Given the description of an element on the screen output the (x, y) to click on. 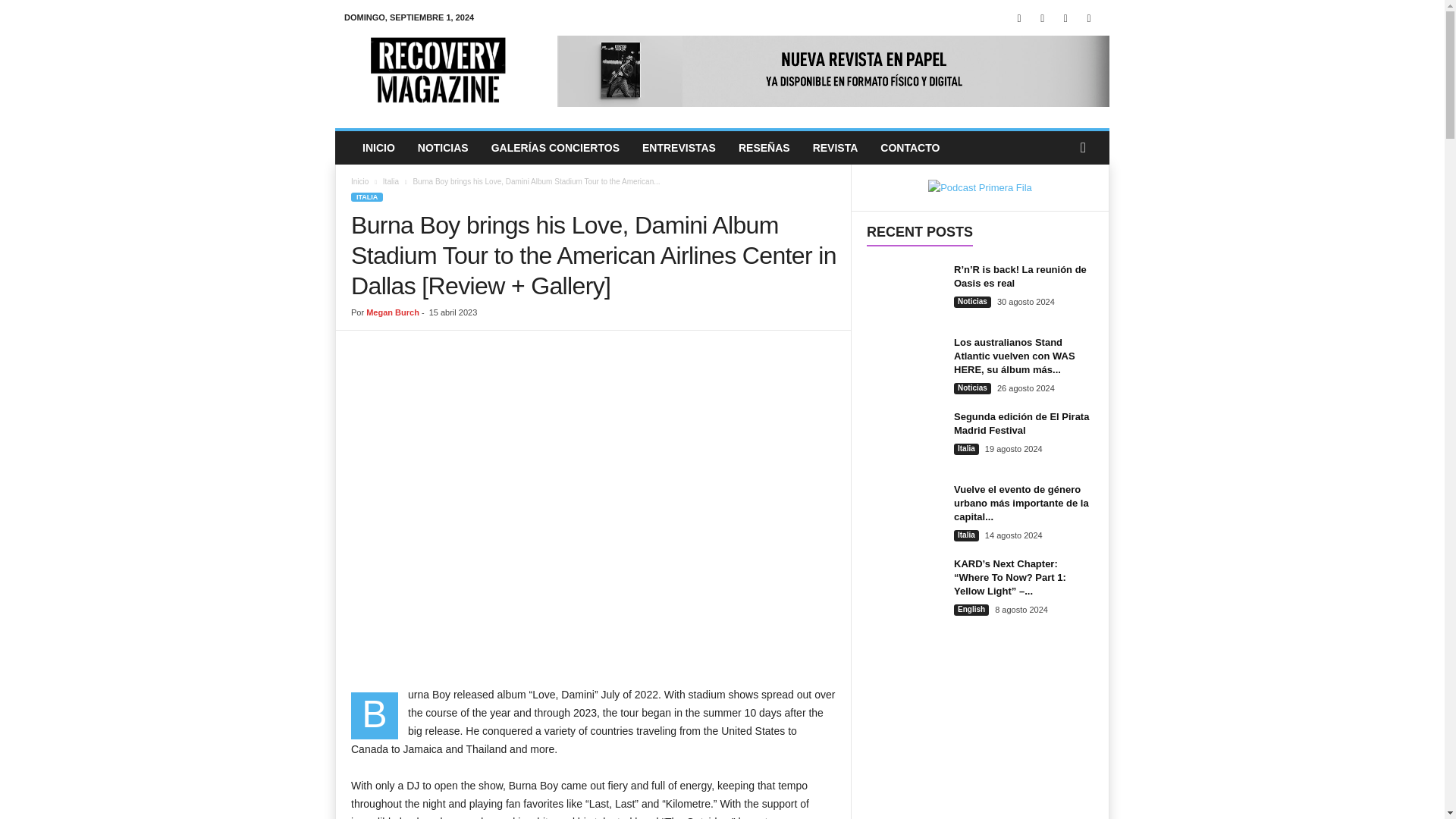
CONTACTO (909, 147)
Inicio (359, 181)
Ver todas las publicaciones en Italia (390, 181)
ITALIA (366, 196)
Italia (390, 181)
NOTICIAS (443, 147)
Recovery Magazine (437, 70)
REVISTA (835, 147)
INICIO (378, 147)
Megan Burch (392, 311)
